Given the description of an element on the screen output the (x, y) to click on. 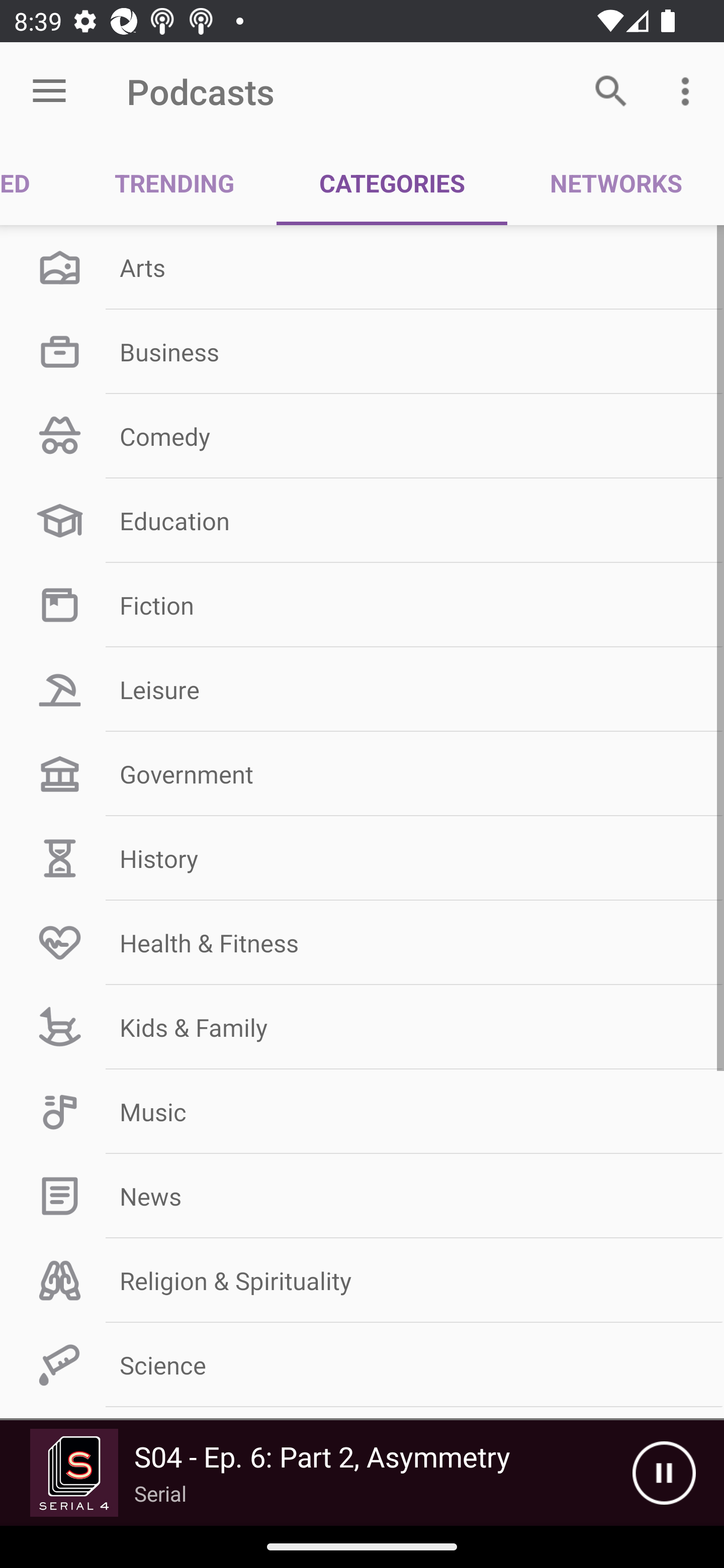
Open menu (49, 91)
Search (611, 90)
More options (688, 90)
TRENDING (174, 183)
CATEGORIES (391, 183)
NETWORKS (615, 183)
Arts (362, 266)
Business (362, 350)
Comedy (362, 435)
Education (362, 520)
Fiction (362, 604)
Leisure (362, 689)
Government (362, 774)
History (362, 858)
Health & Fitness (362, 942)
Kids & Family (362, 1026)
Music (362, 1111)
News (362, 1196)
Religion & Spirituality (362, 1280)
Science (362, 1364)
Picture S04 - Ep. 6: Part 2, Asymmetry Serial (316, 1472)
Pause (663, 1472)
